Given the description of an element on the screen output the (x, y) to click on. 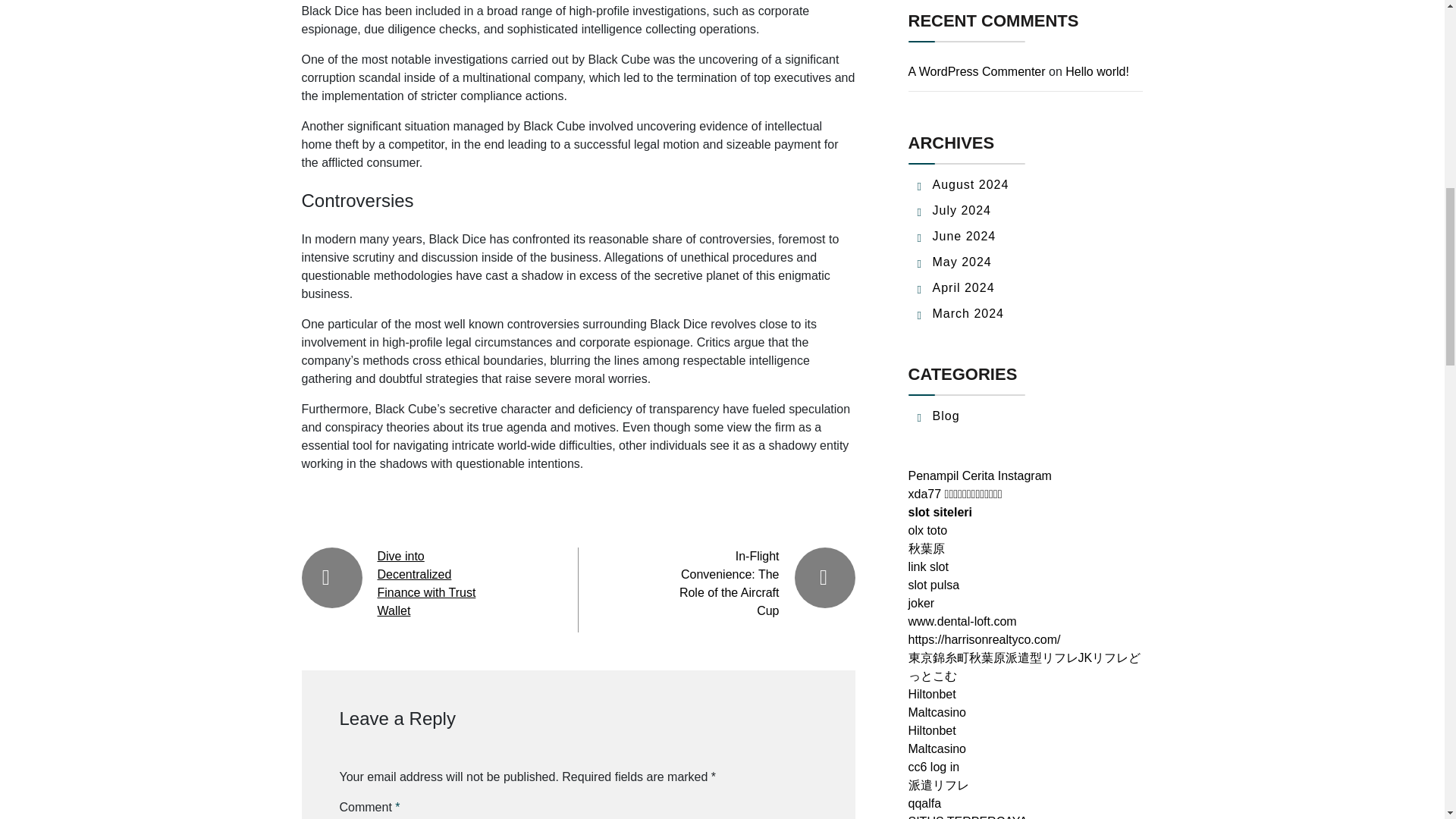
August 2024 (971, 184)
June 2024 (964, 236)
Hello world! (1097, 71)
May 2024 (962, 261)
In-Flight Convenience: The Role of the Aircraft Cup (728, 583)
July 2024 (962, 210)
Penampil Cerita Instagram (979, 475)
Dive into Decentralized Finance with Trust Wallet (426, 583)
April 2024 (963, 287)
March 2024 (968, 313)
